Given the description of an element on the screen output the (x, y) to click on. 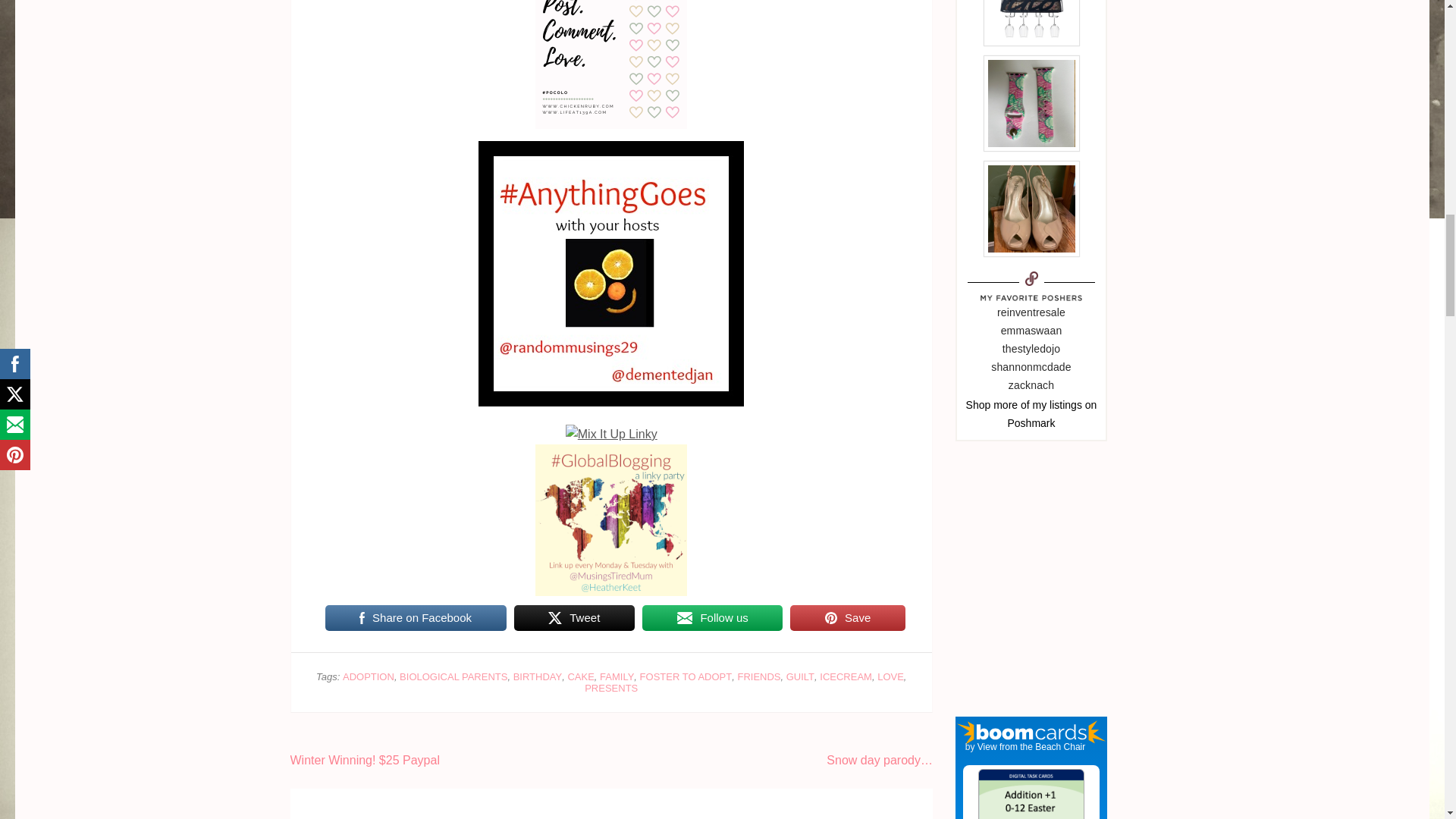
My Random Musings (611, 150)
Shank You Very Much (611, 453)
Tweet (573, 617)
Share on Facebook (414, 617)
Poshmark (1030, 422)
tracymaebob (1056, 404)
Mix It Up Linky (612, 433)
